Given the description of an element on the screen output the (x, y) to click on. 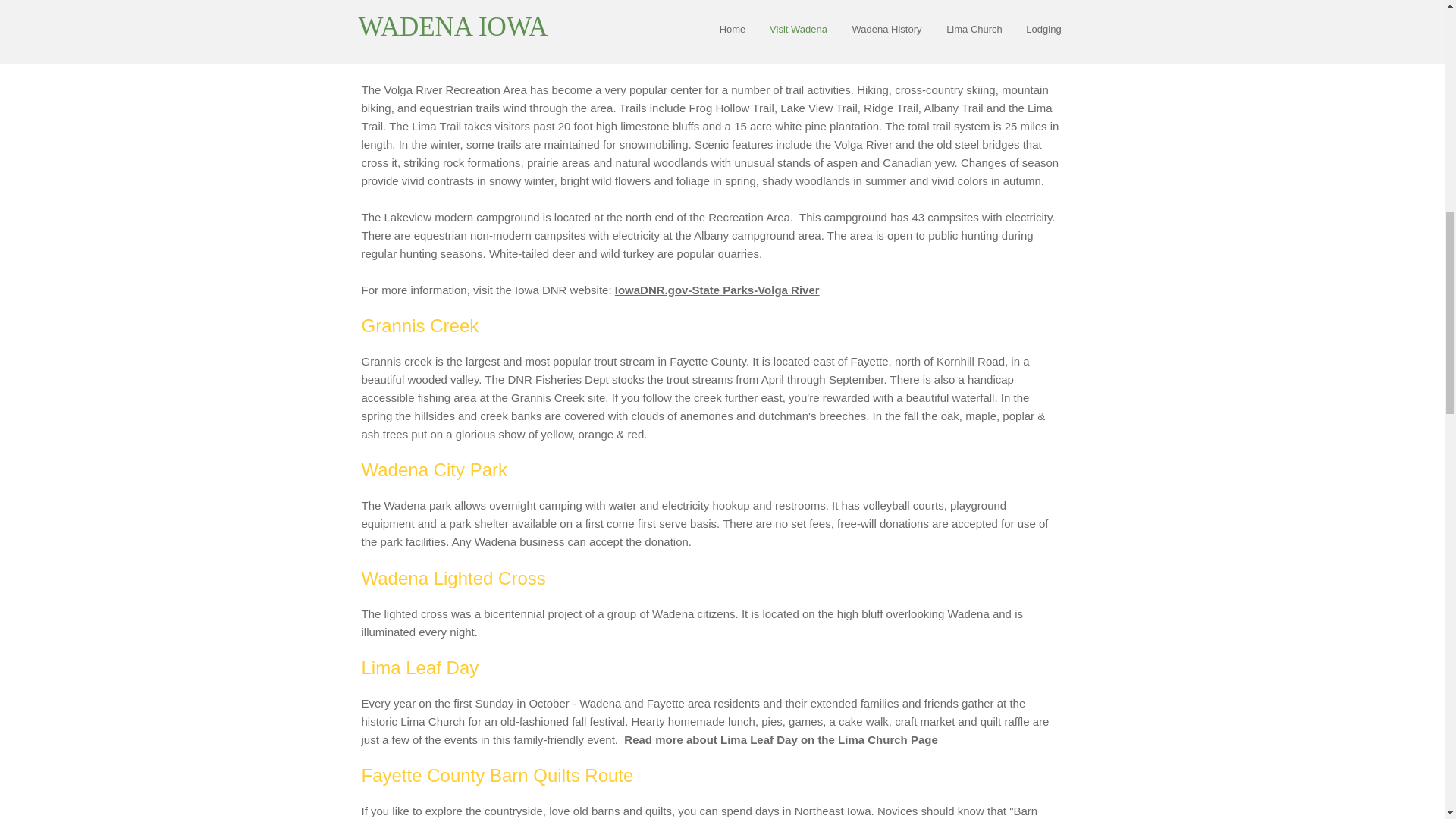
Read more about Lima Leaf Day on the Lima Church Page (780, 739)
IowaDNR.gov-State Parks-Volga River (716, 289)
